Given the description of an element on the screen output the (x, y) to click on. 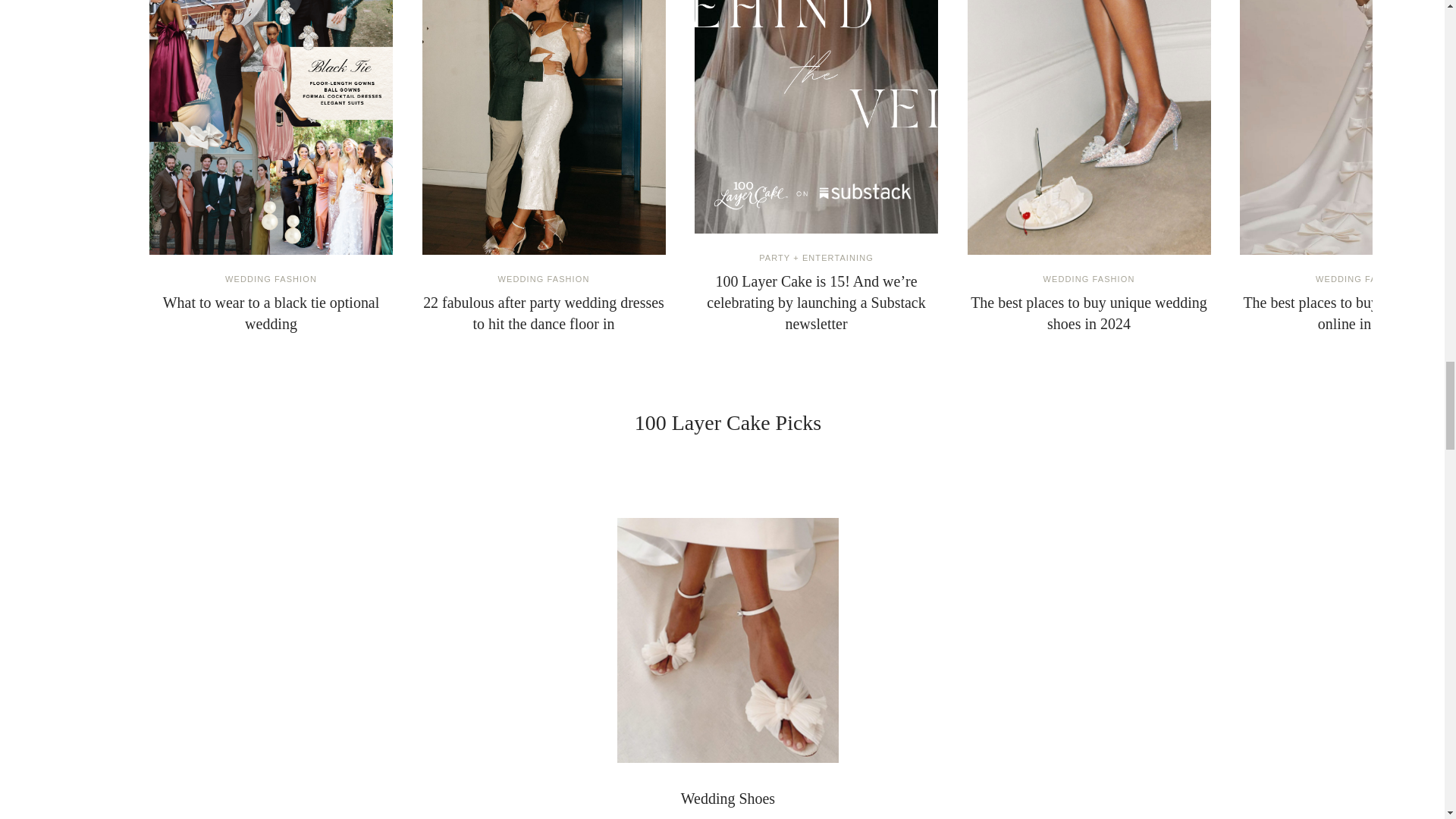
The best places to buy unique wedding shoes in 2024 (1089, 127)
The best places to buy unique wedding shoes in 2024 (1089, 313)
What to wear to a black tie optional wedding (271, 127)
What to wear to a black tie optional wedding (271, 313)
